Given the description of an element on the screen output the (x, y) to click on. 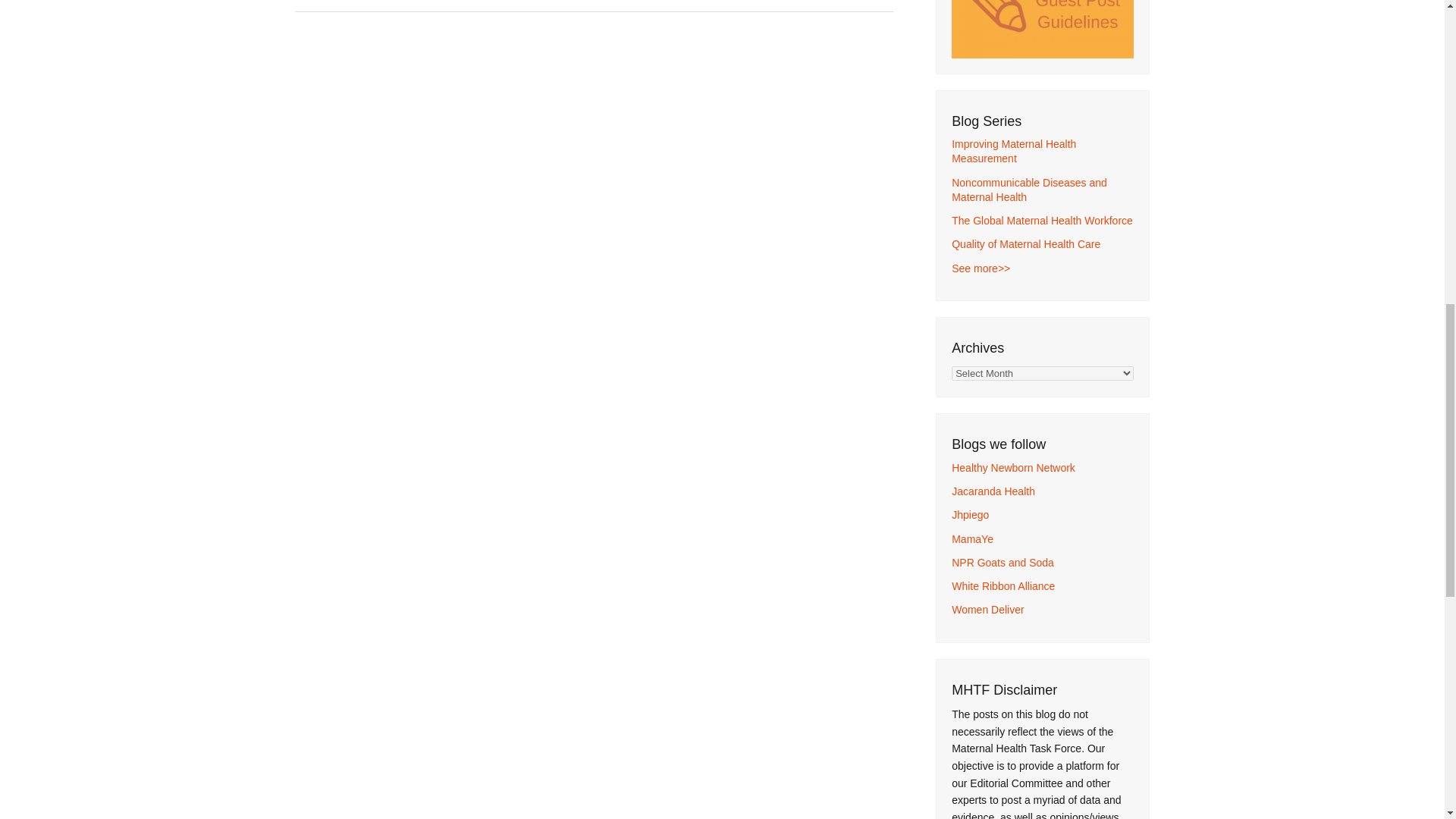
Improving Maternal Health Measurement (1013, 151)
Healthy Newborn Network (1013, 467)
Quality of Maternal Health Care (1026, 244)
MamaYe (972, 539)
Jhpiego (970, 514)
Noncommunicable Diseases and Maternal Health (1029, 189)
The Global Maternal Health Workforce (1042, 220)
NPR Goats and Soda (1003, 562)
Jacaranda Health (993, 491)
White Ribbon Alliance (1003, 585)
